Given the description of an element on the screen output the (x, y) to click on. 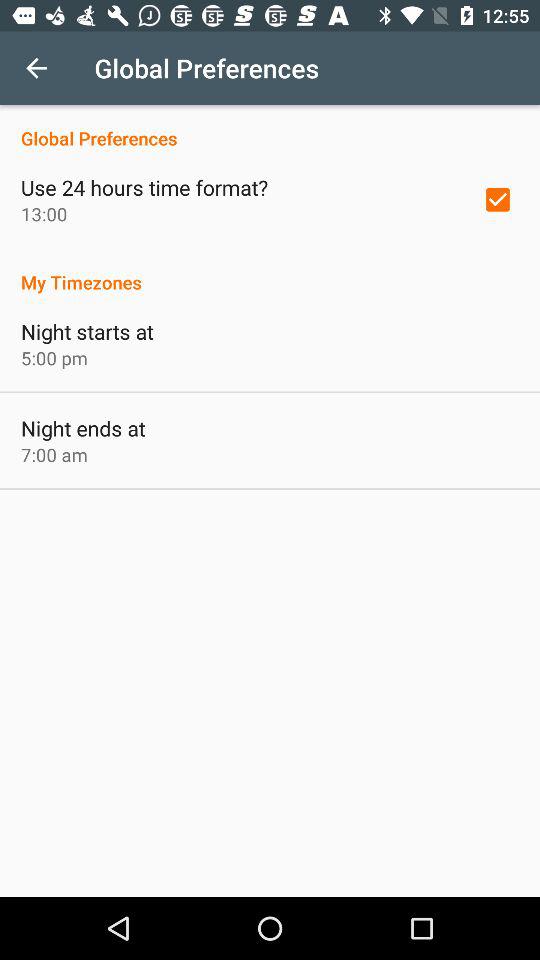
press the icon at the top right corner (497, 199)
